Given the description of an element on the screen output the (x, y) to click on. 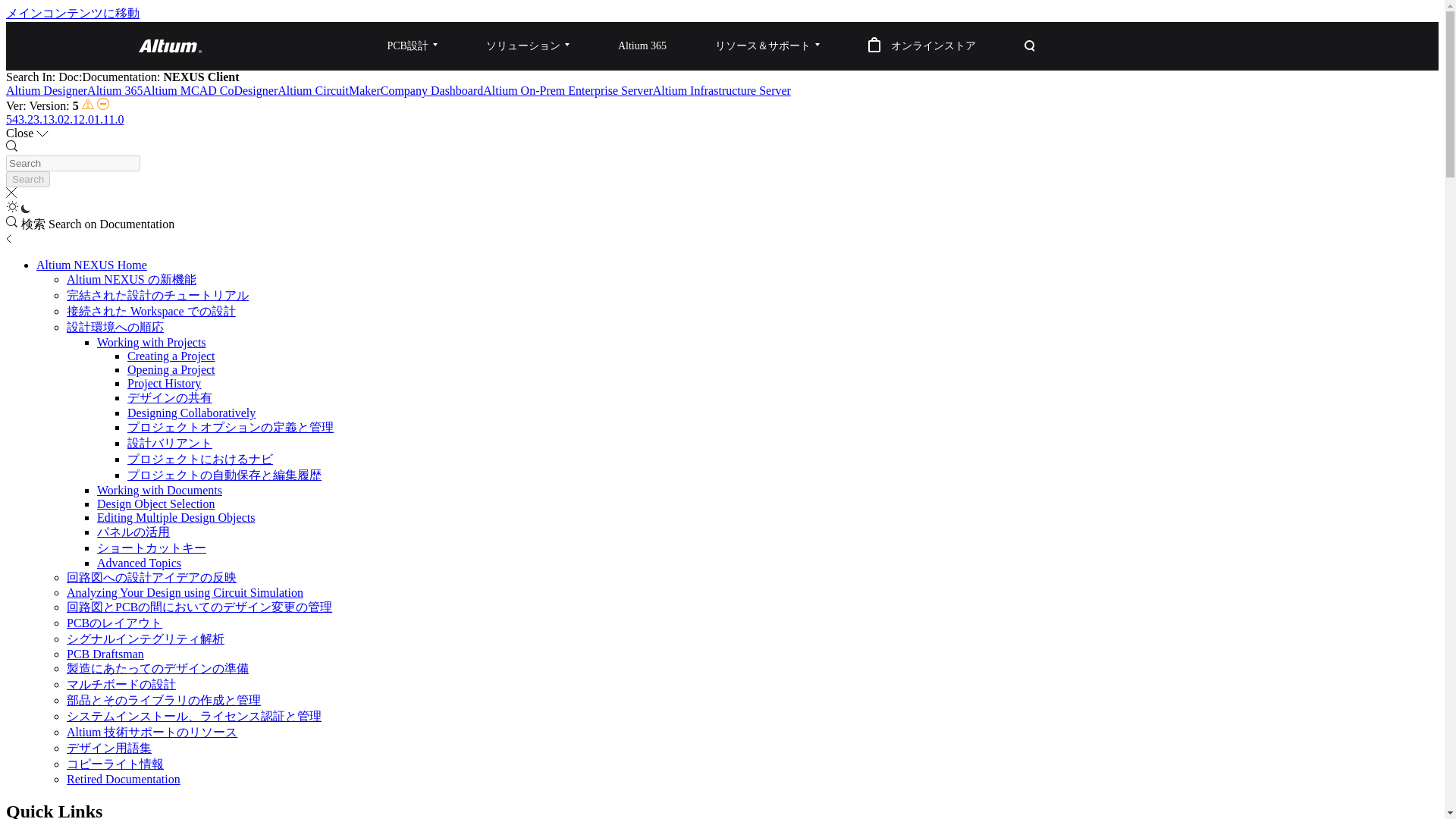
Altium Infrastructure Server (721, 90)
Altium On-Prem Enterprise Server (567, 90)
Altium MCAD CoDesigner (210, 90)
Altium Designer (46, 90)
Search (27, 179)
Search (27, 179)
Altium 365 (114, 90)
Company Dashboard (431, 90)
Altium CircuitMaker (329, 90)
Altium 365 (642, 46)
